Given the description of an element on the screen output the (x, y) to click on. 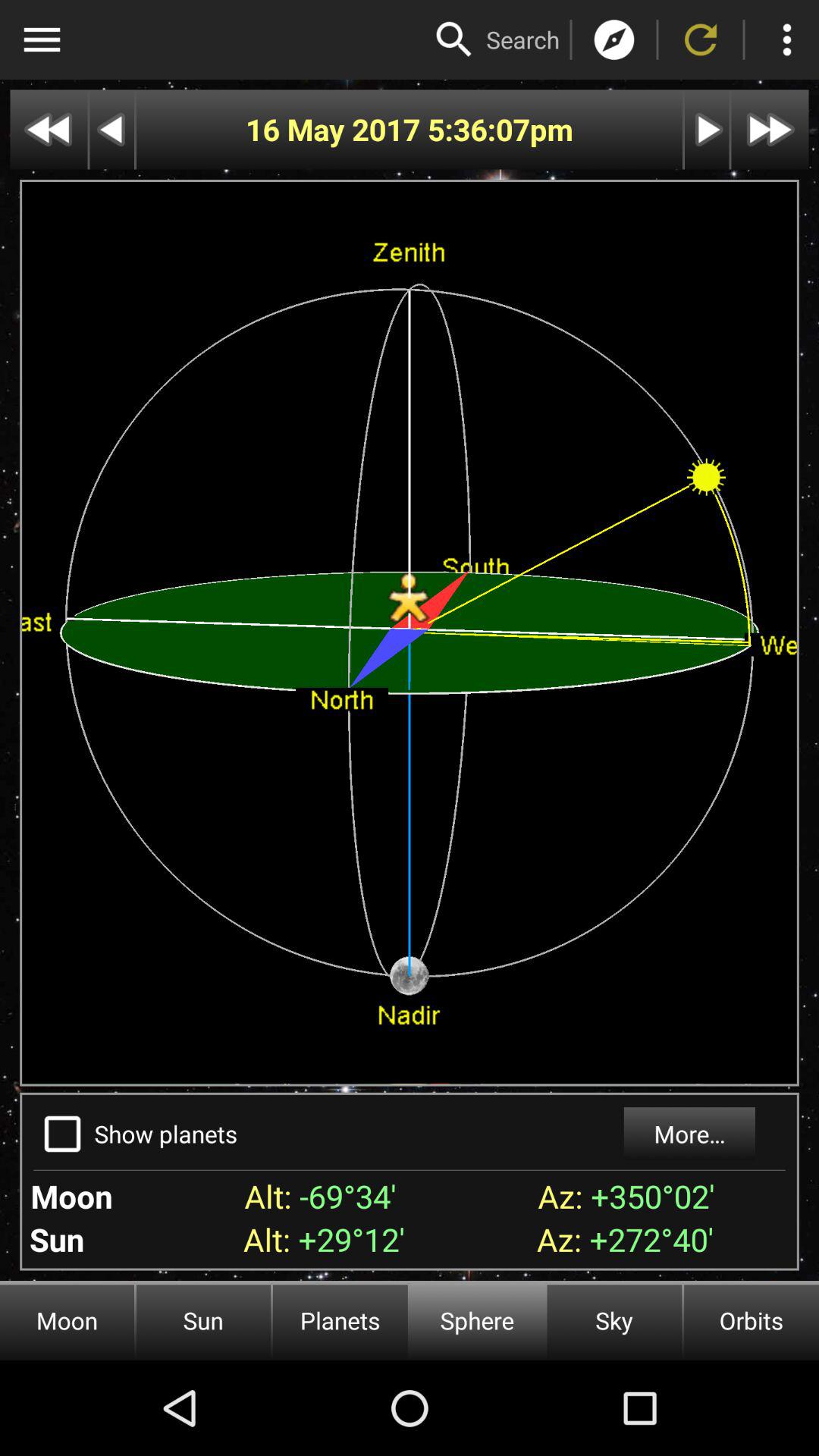
open item above the 5:36:07 app (522, 39)
